Given the description of an element on the screen output the (x, y) to click on. 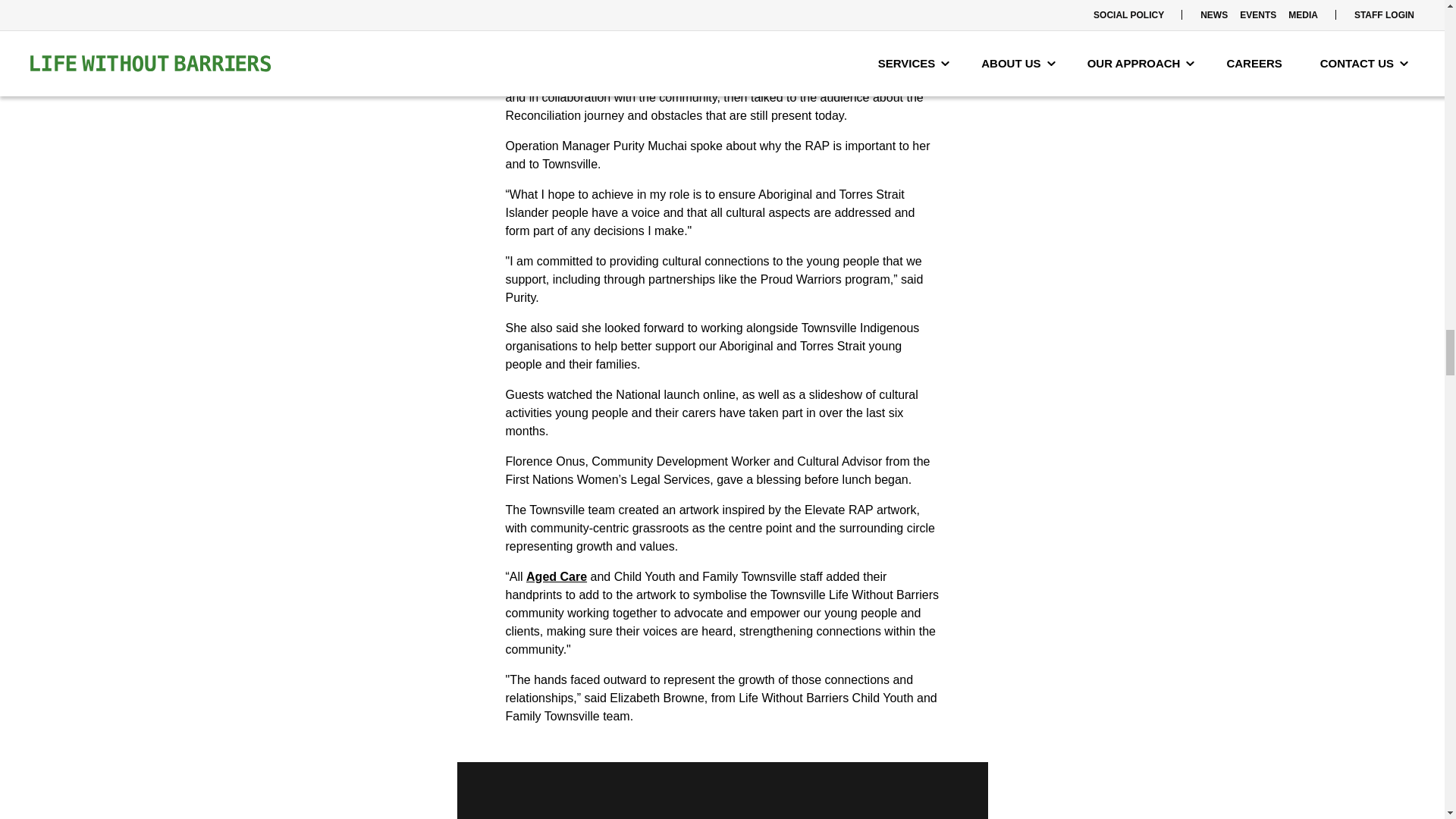
Aged Care (555, 576)
